Given the description of an element on the screen output the (x, y) to click on. 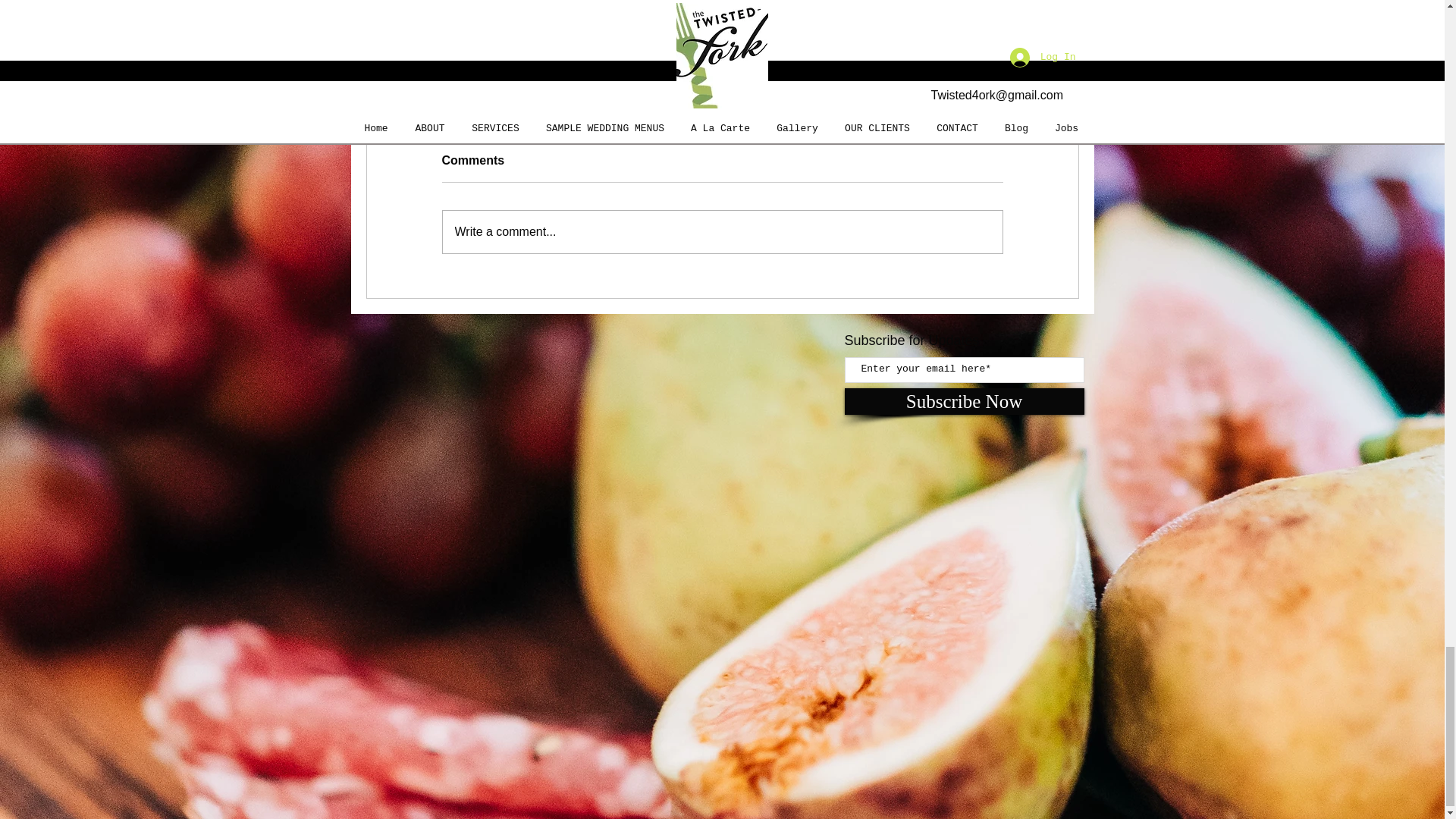
0 (440, 82)
CHEERS TO THE LAST OR TWELFTH DAY OF CHRISTMAS (721, 29)
Post not marked as liked (1050, 82)
0 (685, 82)
Post not marked as liked (558, 82)
0 (931, 82)
Write a comment... (722, 231)
GET YOUR PIPE ON (967, 21)
Subscribe Now (964, 401)
Post not marked as liked (804, 82)
